Given the description of an element on the screen output the (x, y) to click on. 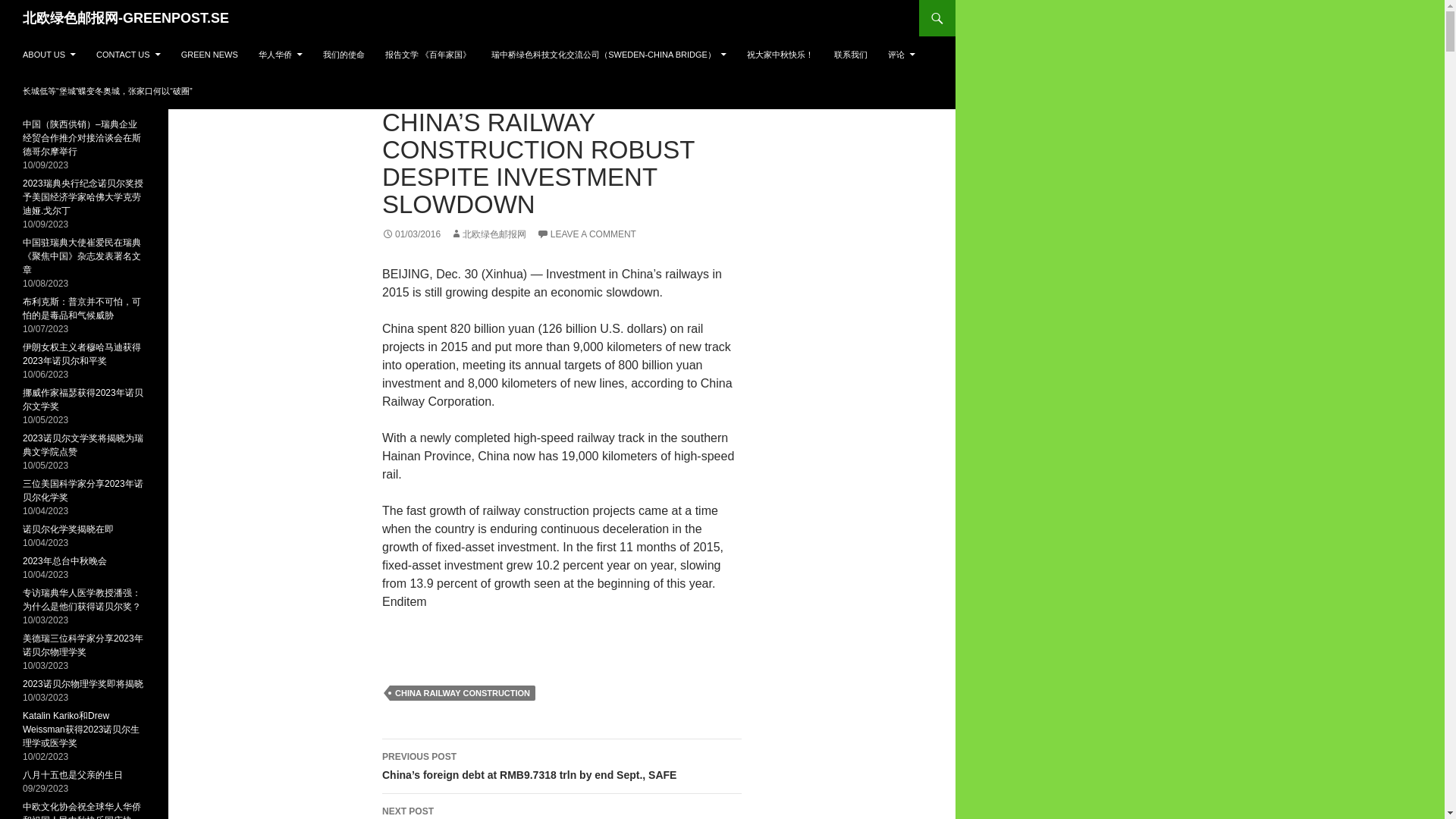
ABOUT US (48, 54)
CONTACT US (128, 54)
GREEN NEWS (209, 54)
